Given the description of an element on the screen output the (x, y) to click on. 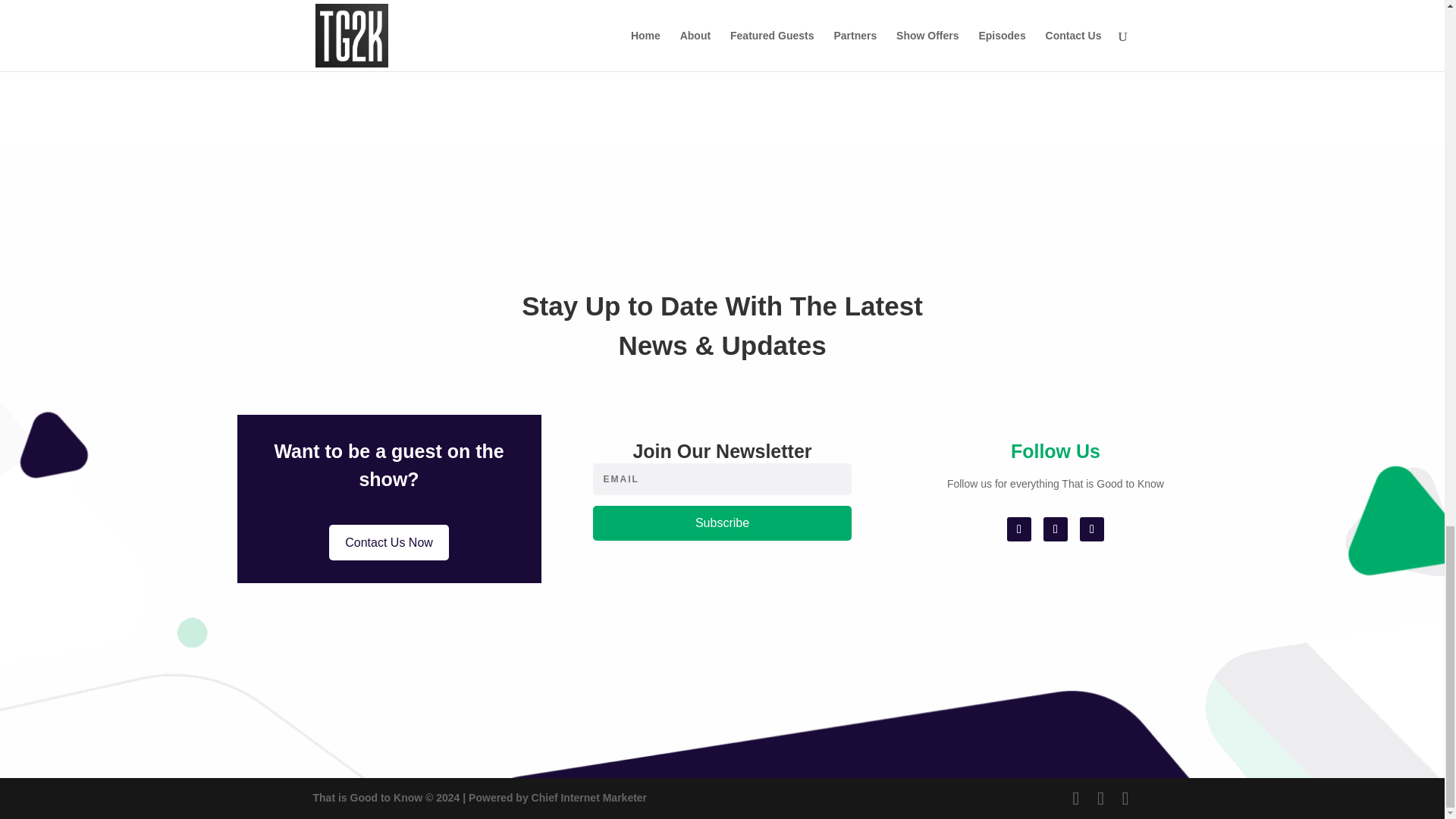
Subscribe (721, 523)
Chief Internet Marketer (588, 797)
Follow on LinkedIn (1055, 528)
Follow on Facebook (1018, 528)
Contact Us Now (388, 542)
Follow on Youtube (1091, 528)
